Given the description of an element on the screen output the (x, y) to click on. 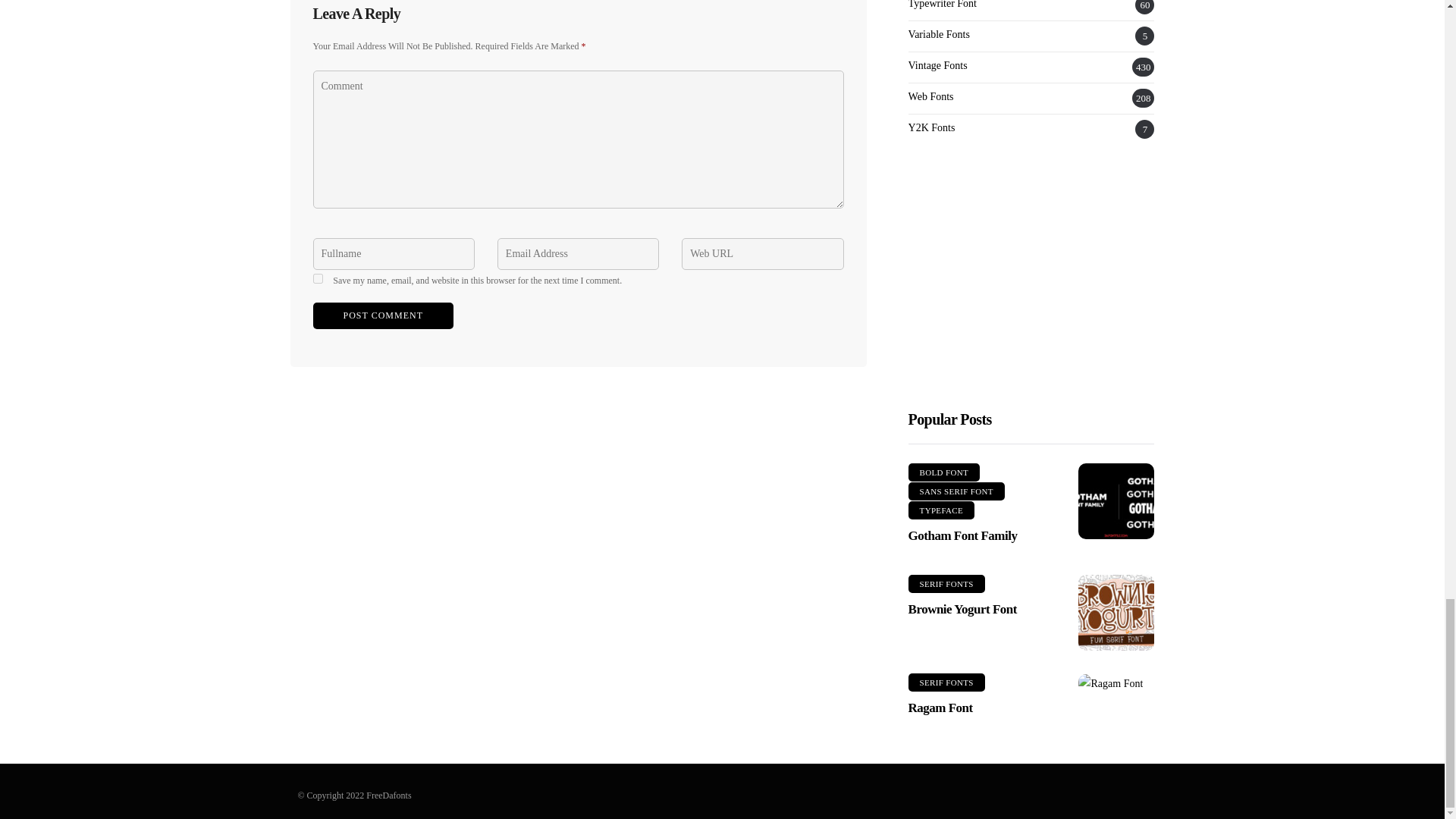
Ragam Font (1116, 683)
yes (317, 278)
Post Comment (382, 315)
Brownie Yogurt Font (1116, 612)
Gotham Font Family (1116, 500)
